Given the description of an element on the screen output the (x, y) to click on. 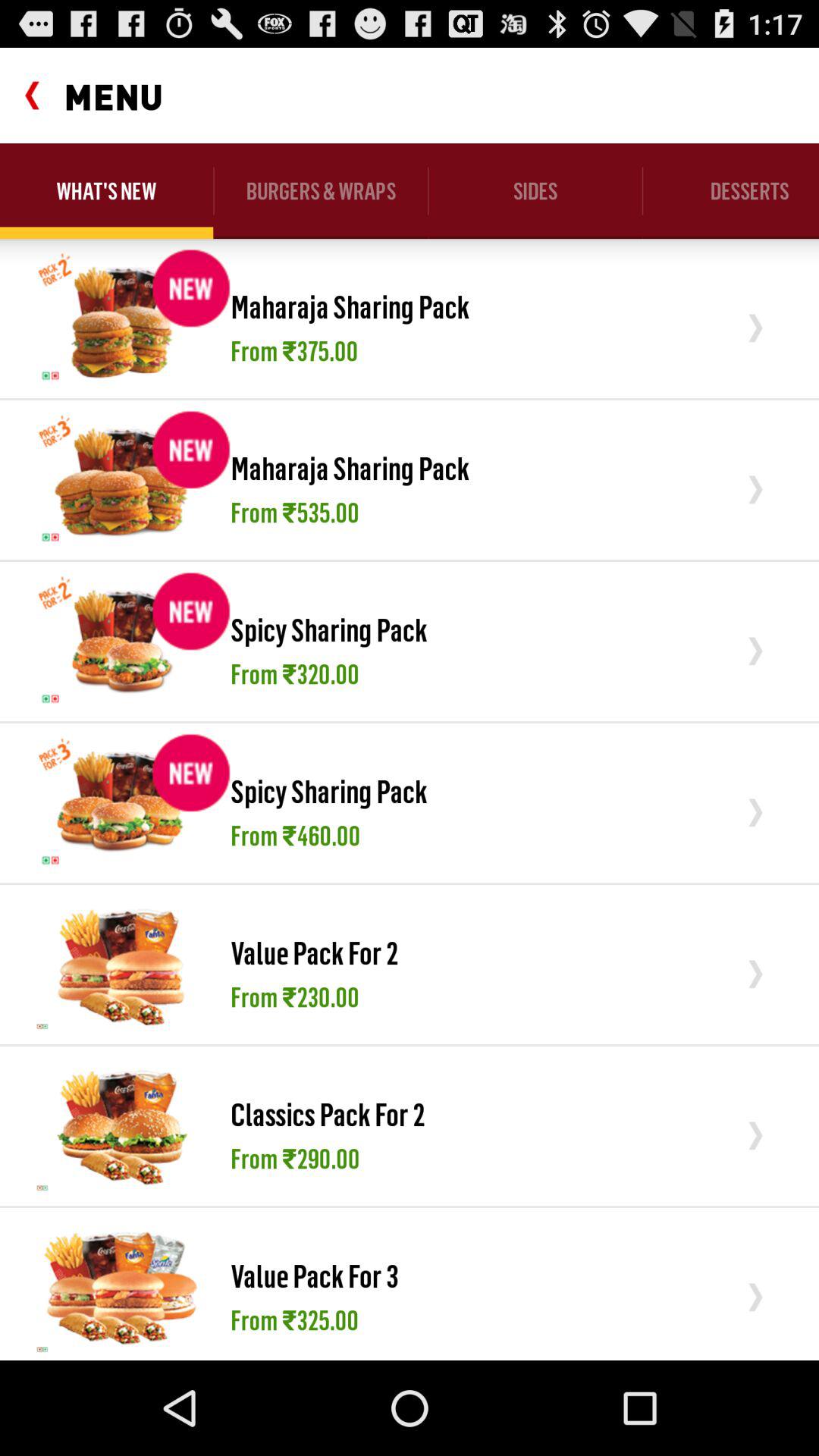
launch icon next to the maharaja sharing pack (121, 479)
